Given the description of an element on the screen output the (x, y) to click on. 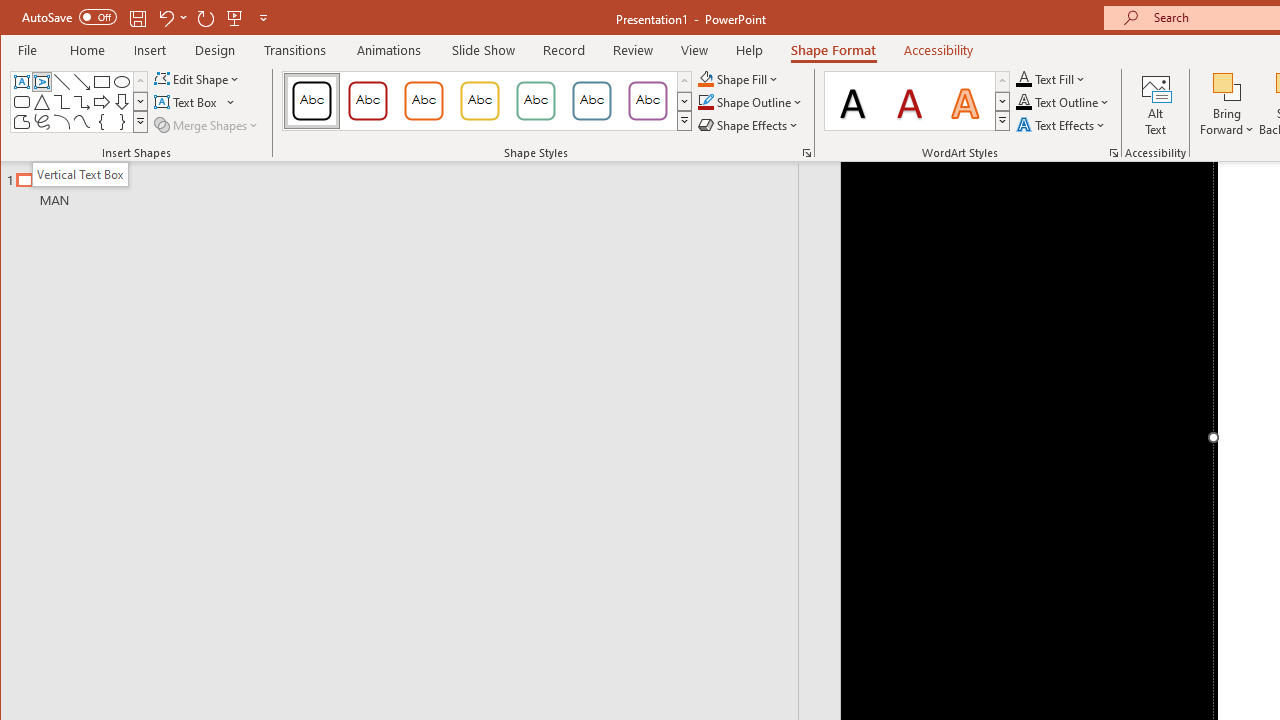
Colored Outline - Blue-Gray, Accent 5 (591, 100)
Text Fill (1051, 78)
Text Effects (1062, 124)
Text Outline (1062, 101)
AutomationID: TextStylesGallery (917, 101)
